Given the description of an element on the screen output the (x, y) to click on. 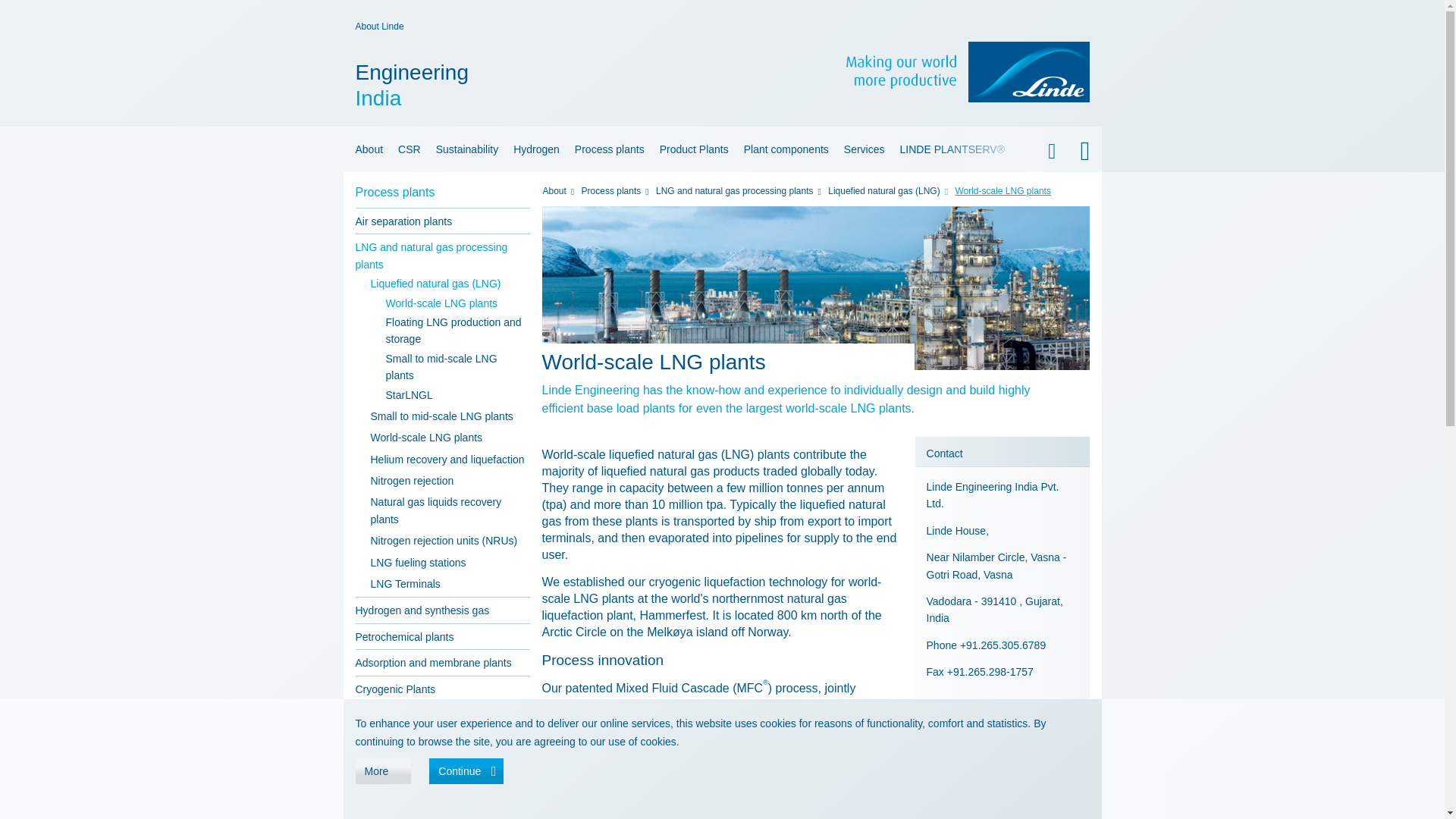
Sustainability (467, 148)
About Linde (379, 26)
About (366, 148)
Process plants (609, 148)
Hydrogen (536, 148)
About (574, 84)
